Given the description of an element on the screen output the (x, y) to click on. 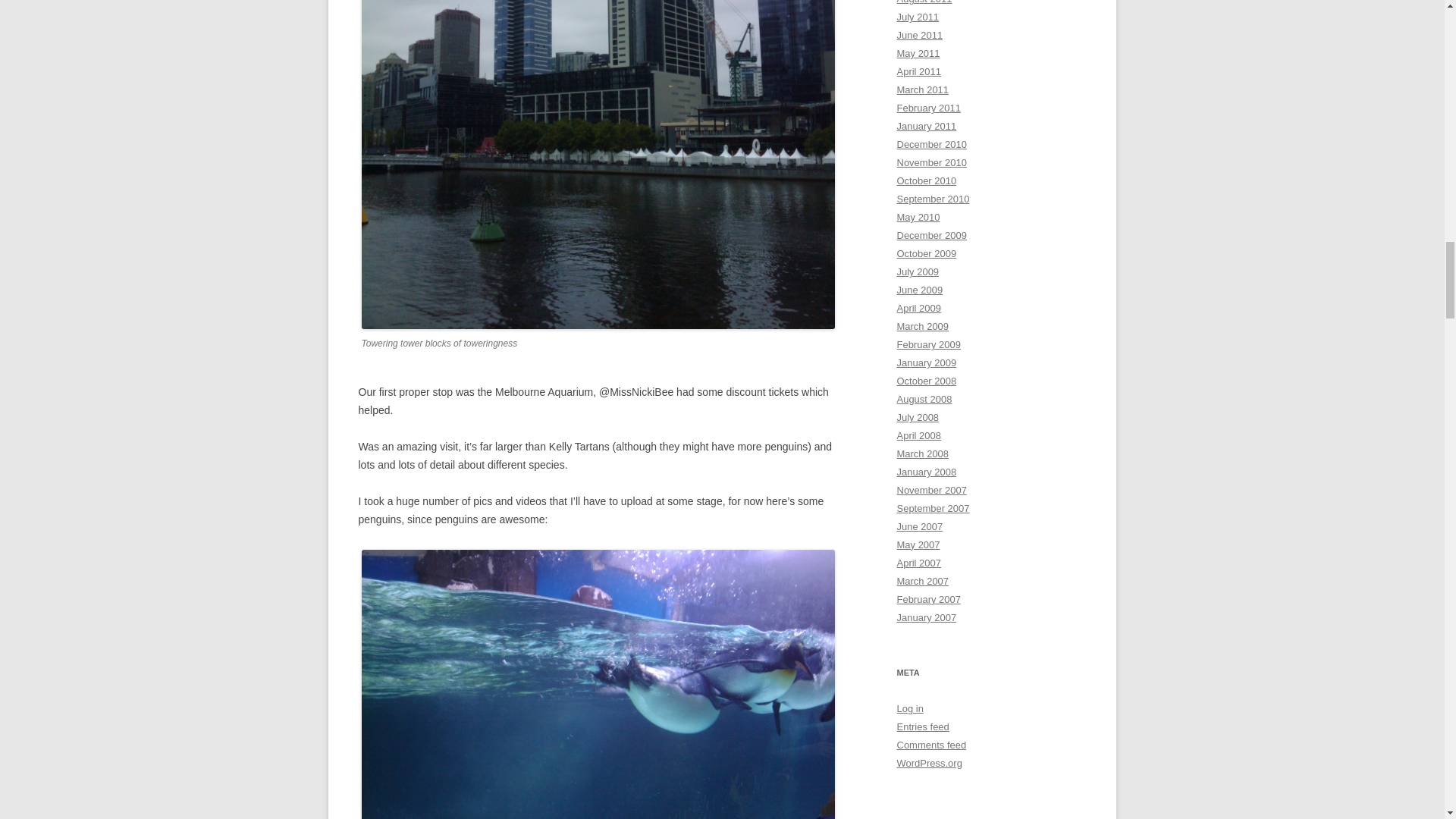
2011-02-03 12.43.37 (597, 684)
